Given the description of an element on the screen output the (x, y) to click on. 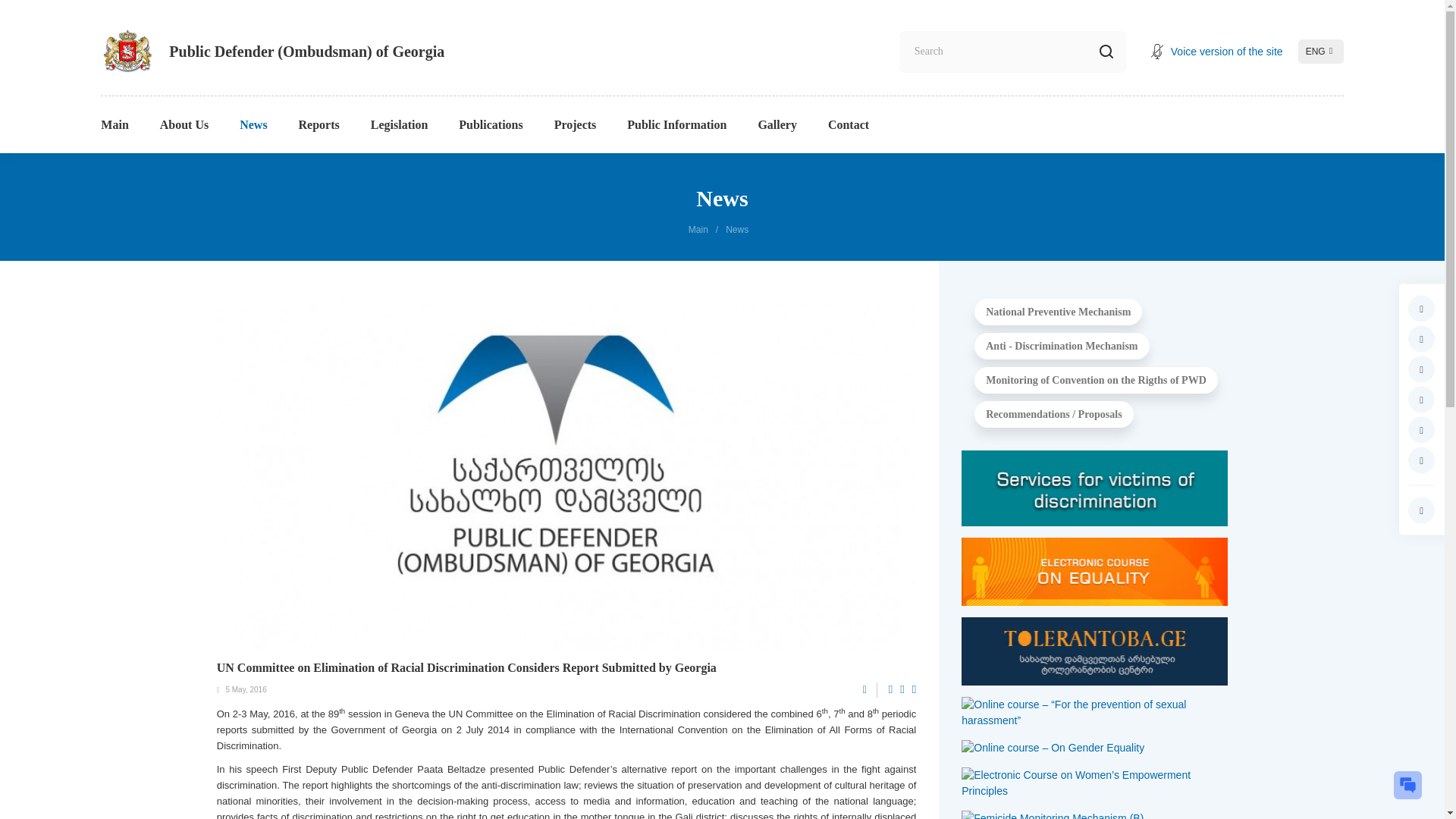
YouTube (1420, 399)
Voice version of the site (1216, 51)
Facebook (1420, 308)
Flickr (1420, 429)
Instagram (1420, 338)
Twitter (1420, 369)
Voice version of the site (1216, 51)
